Given the description of an element on the screen output the (x, y) to click on. 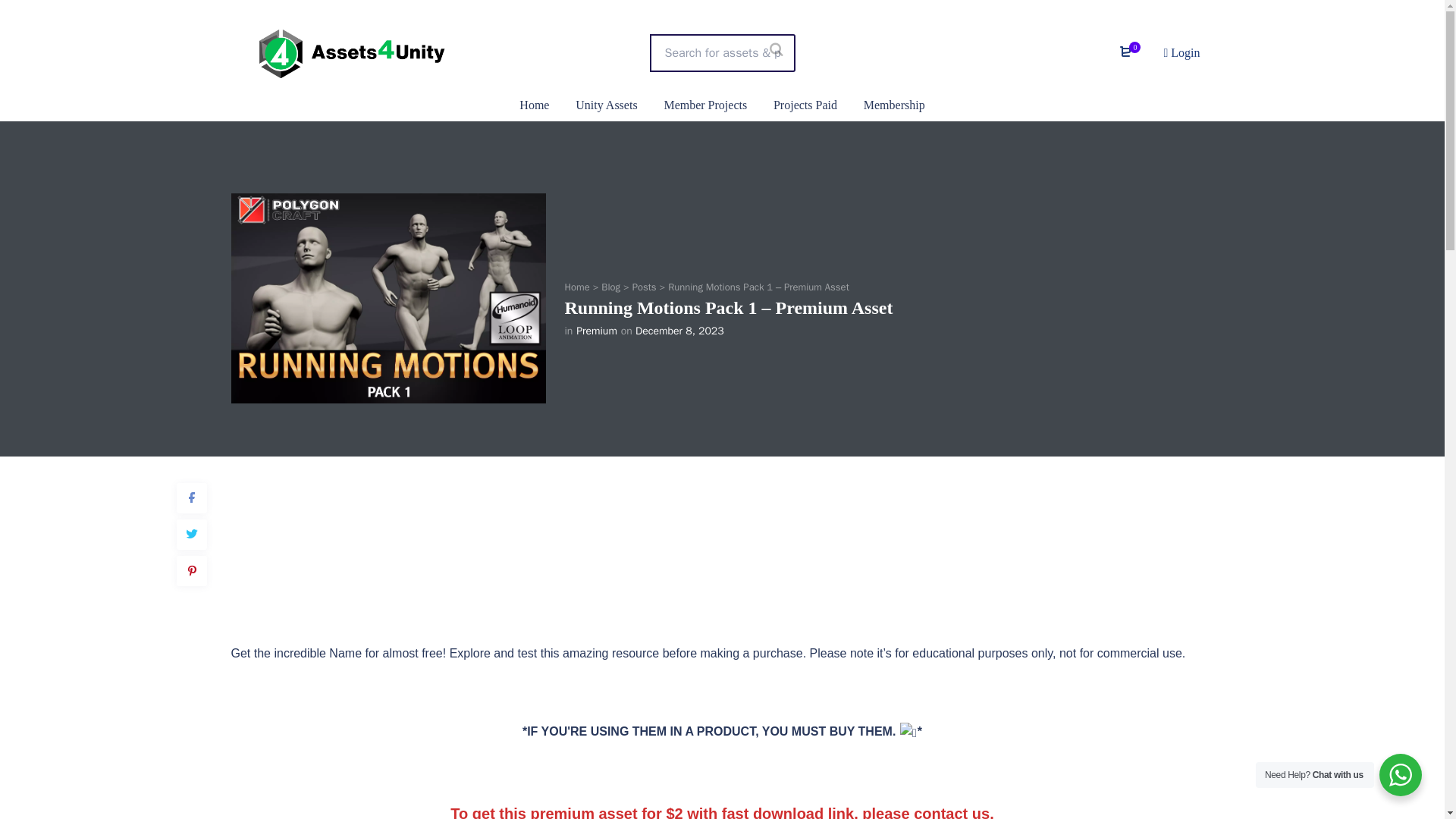
Running Motions Pack 1 Free Download (388, 298)
Home (576, 286)
Blog (610, 286)
Unity Assets (605, 105)
Posts (643, 286)
Login (1181, 51)
Home (534, 105)
